Given the description of an element on the screen output the (x, y) to click on. 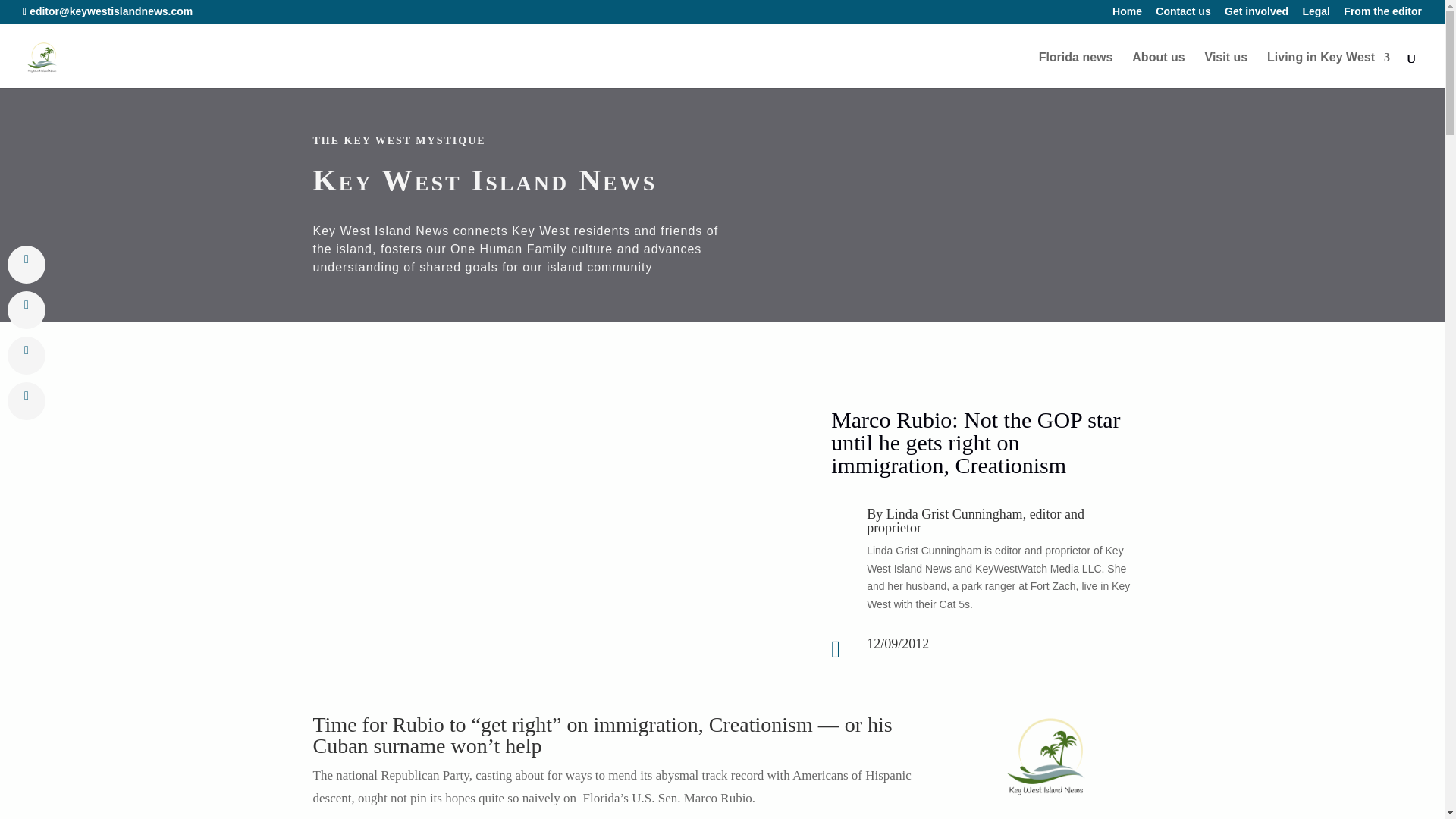
Florida news (1076, 69)
About us (1158, 69)
Get involved (1256, 15)
Visit us (1226, 69)
Legal (1315, 15)
Linda Grist Cunningham (954, 513)
Contact us (1182, 15)
From the editor (1382, 15)
Home (1126, 15)
Living in Key West (1328, 69)
cropped-2019-Logo-DRK-BLU-Text-Transparent-1.png (1046, 757)
